Given the description of an element on the screen output the (x, y) to click on. 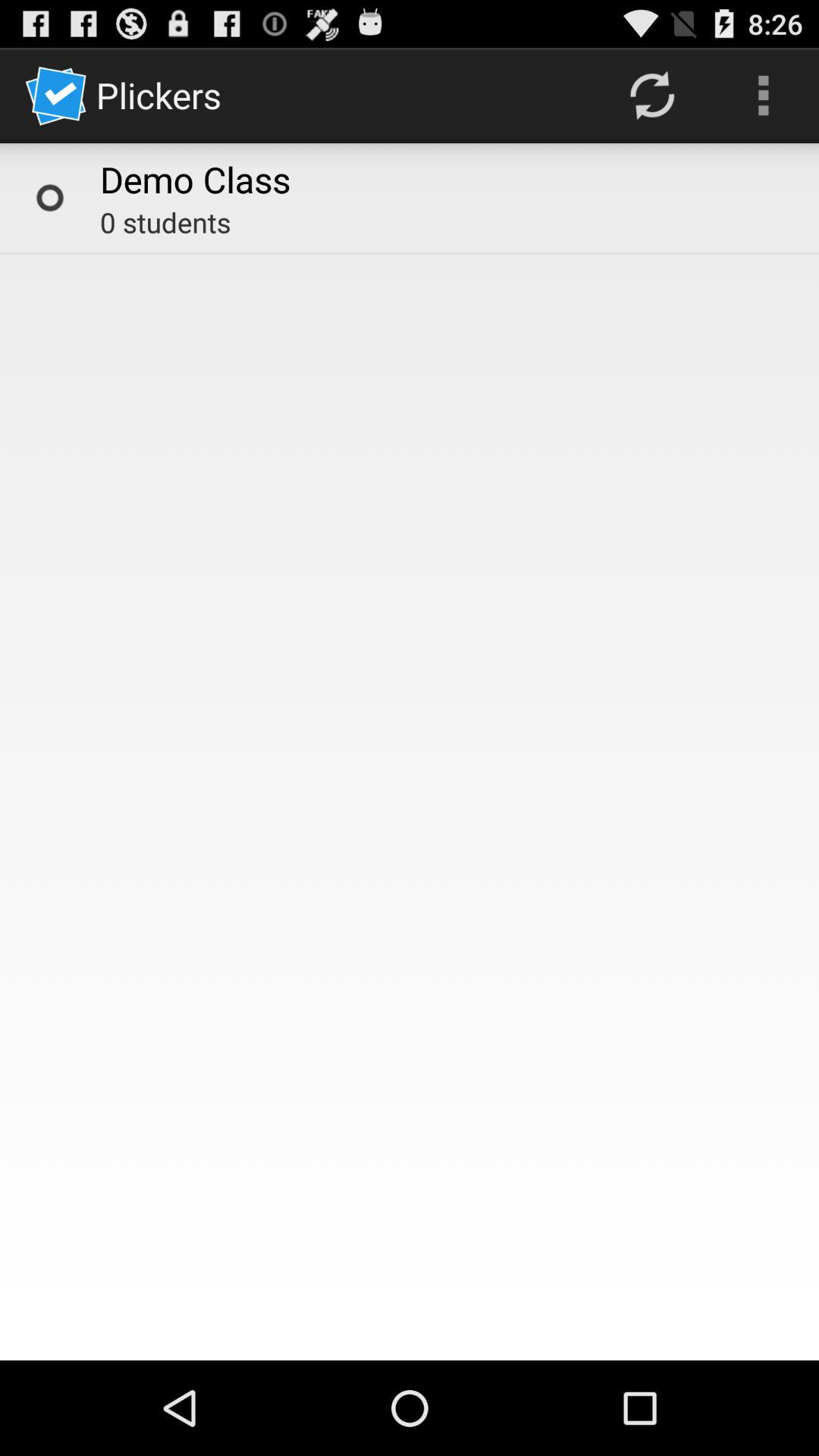
click 0 students icon (165, 222)
